Given the description of an element on the screen output the (x, y) to click on. 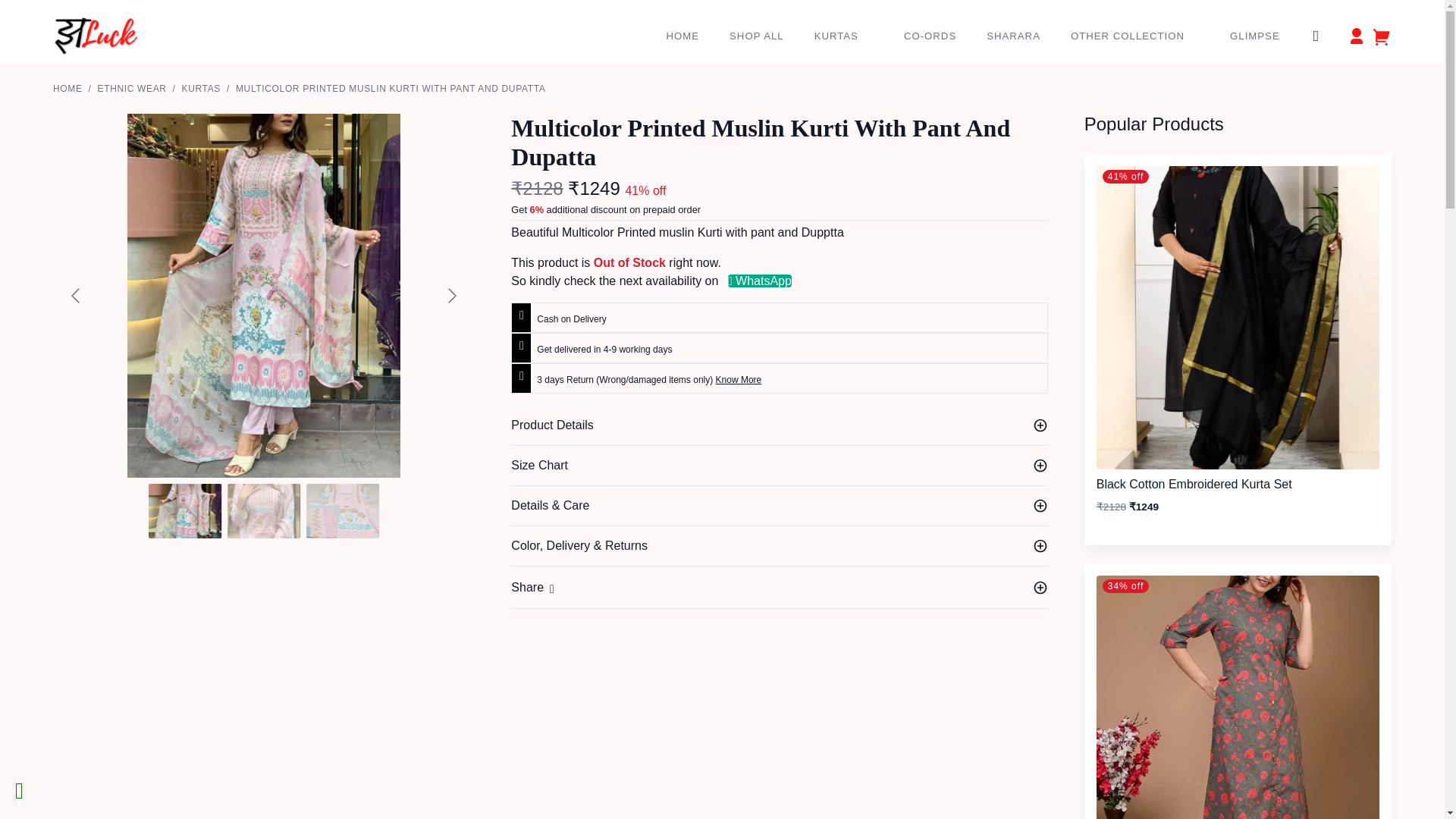
SHOP ALL (753, 36)
HOME (680, 36)
KURTAS (840, 36)
